Given the description of an element on the screen output the (x, y) to click on. 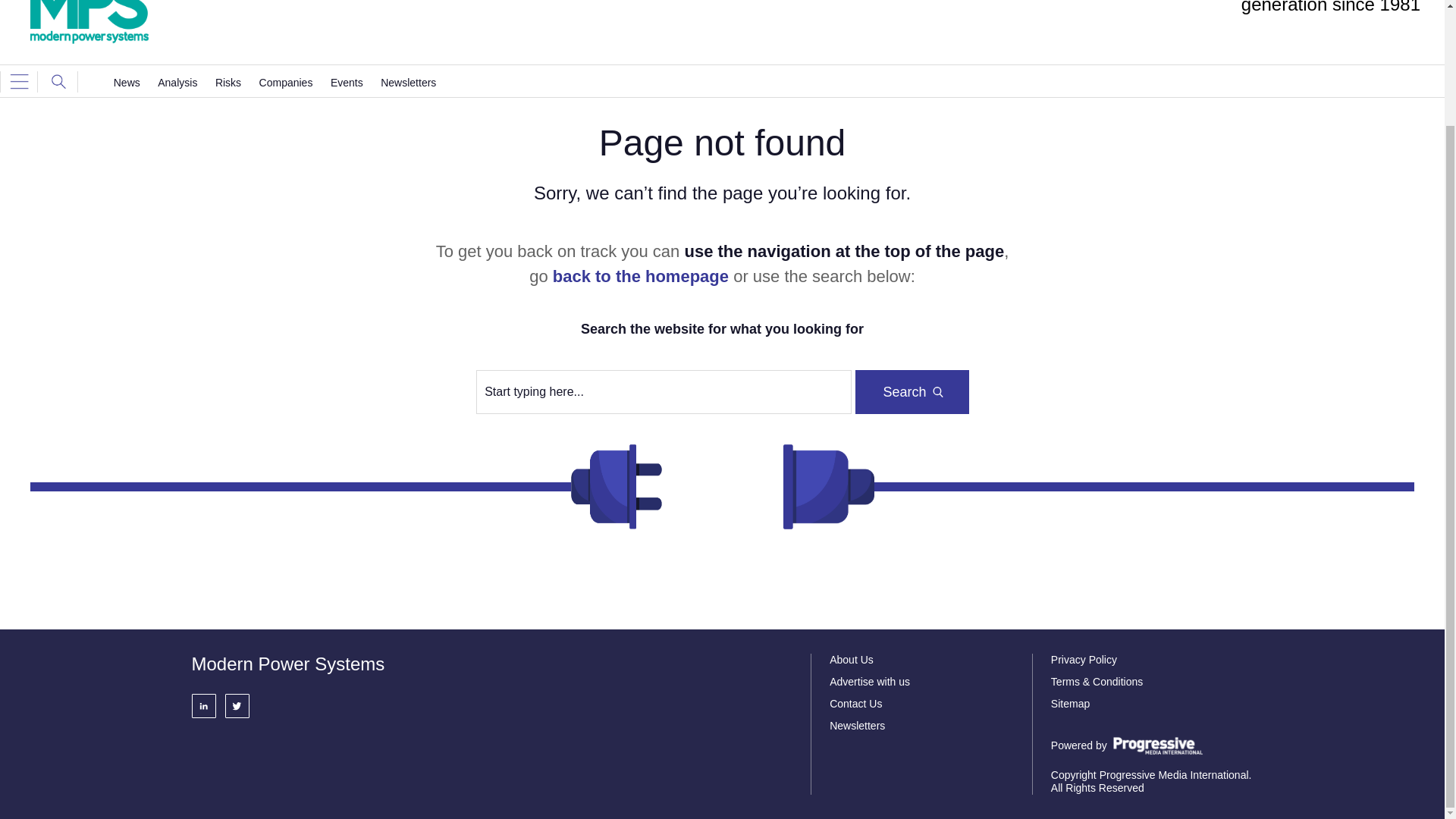
Companies (286, 82)
Analysis (176, 82)
